Given the description of an element on the screen output the (x, y) to click on. 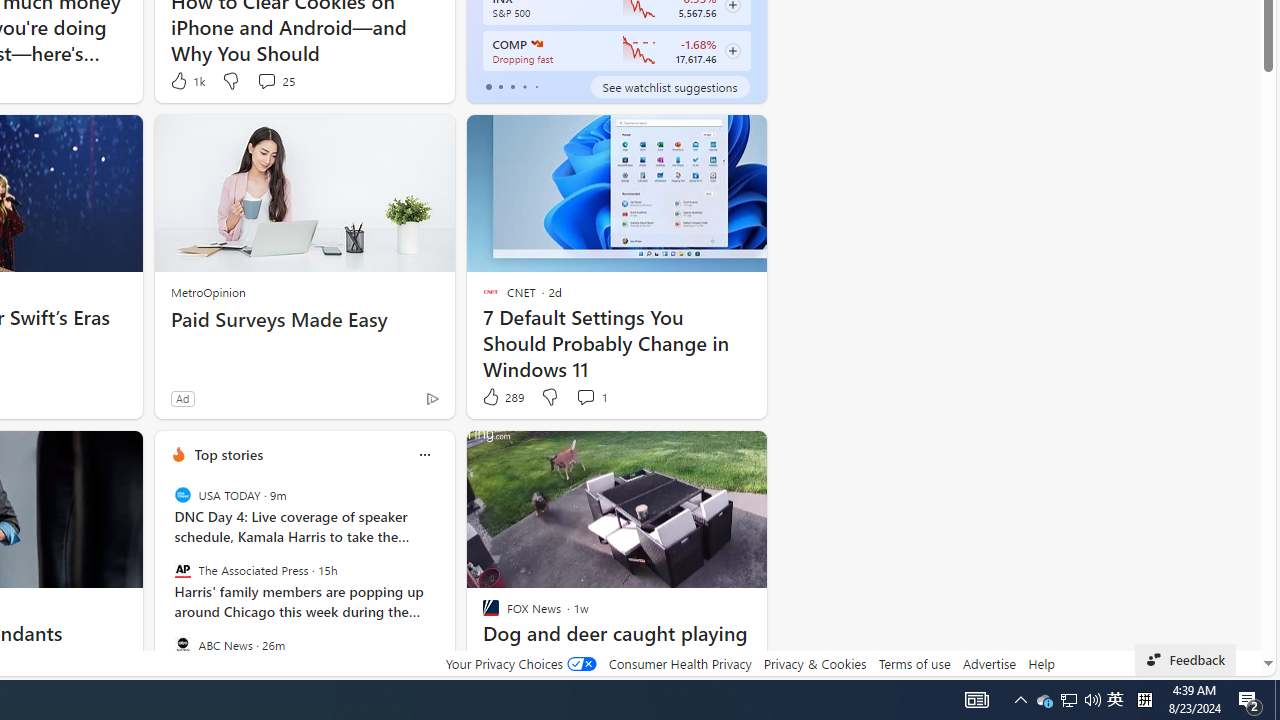
Paid Surveys Made Easy (304, 319)
Top stories (228, 454)
tab-3 (524, 86)
Hide this story (491, 454)
View comments 25 Comment (275, 80)
MetroOpinion (207, 291)
ABC News (182, 644)
